Given the description of an element on the screen output the (x, y) to click on. 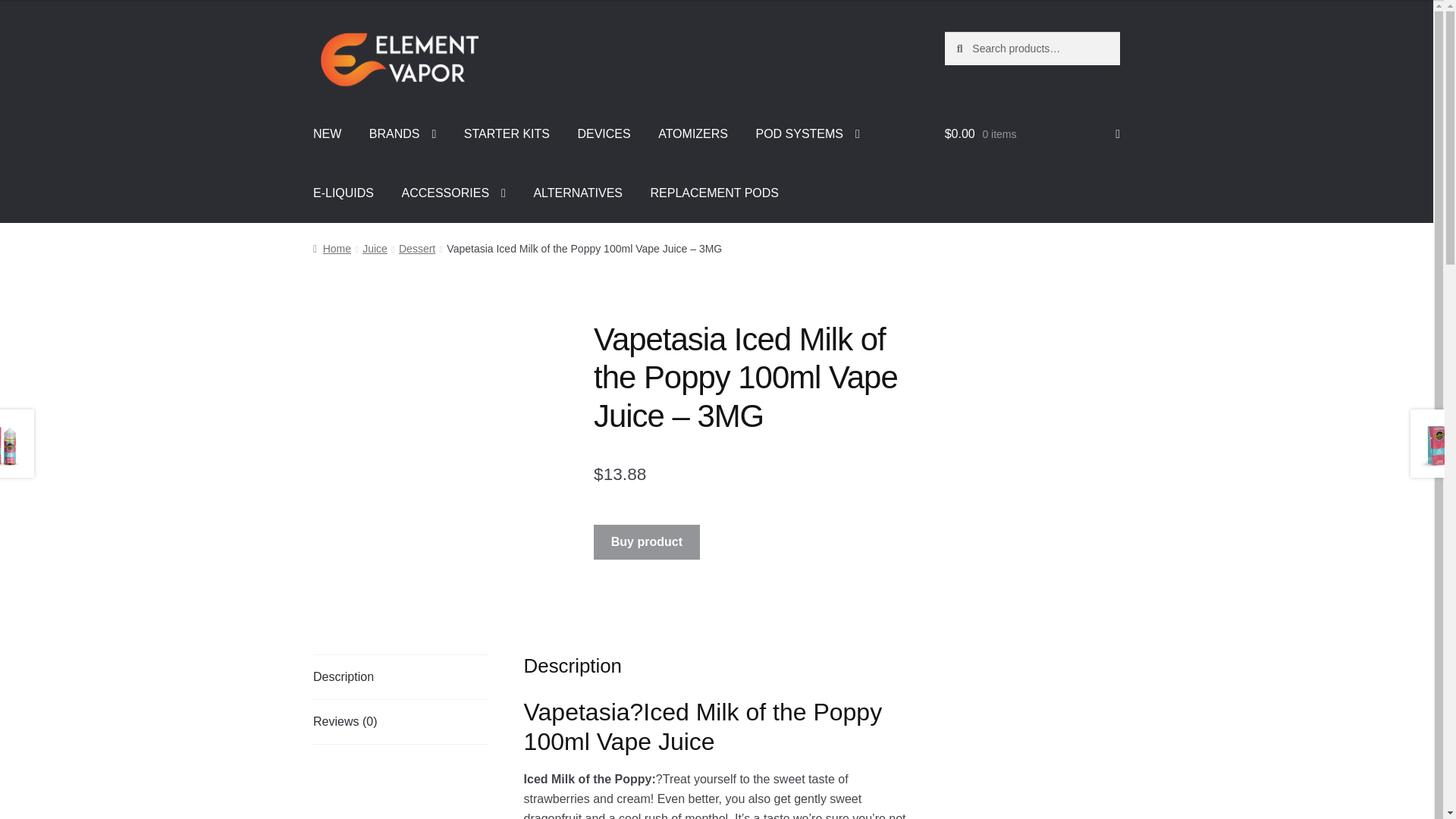
View your shopping cart (1031, 133)
BRANDS (402, 133)
